Given the description of an element on the screen output the (x, y) to click on. 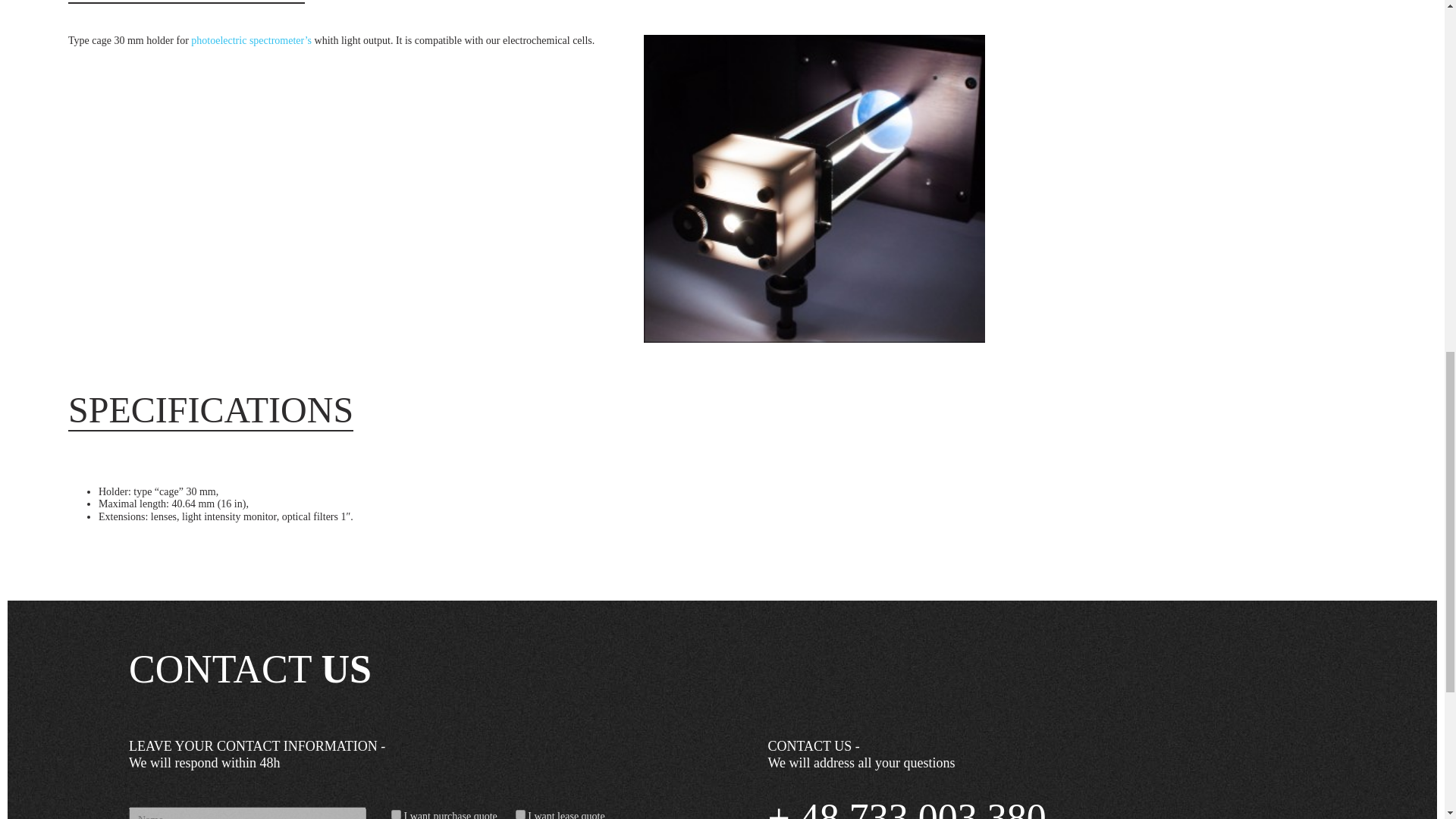
I want lease quote (520, 814)
I want purchase quote (396, 814)
